Given the description of an element on the screen output the (x, y) to click on. 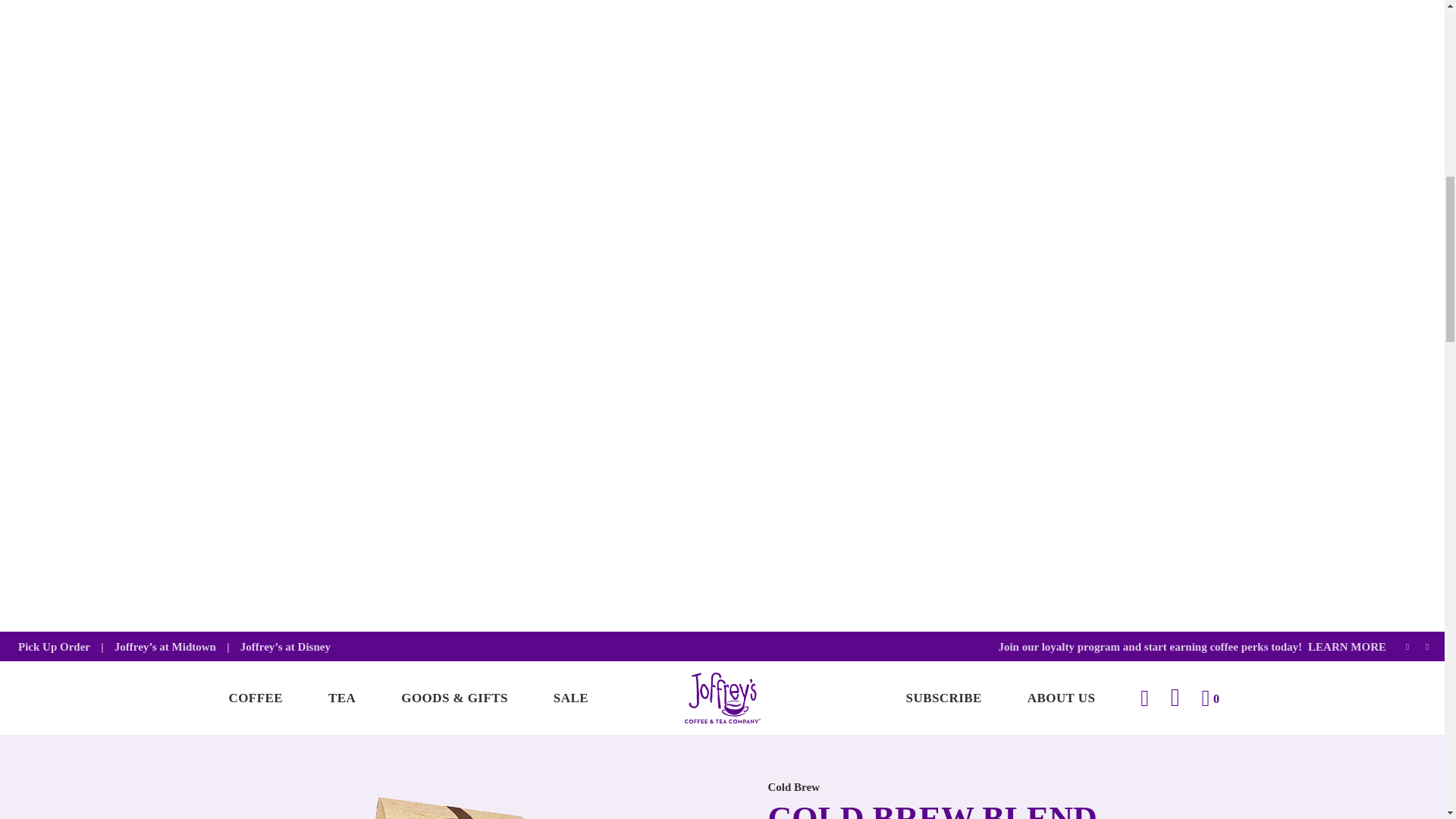
SUBSCRIBE (943, 697)
sale (571, 697)
LEARN MORE (1343, 646)
Tea (341, 697)
Coffee (255, 697)
SALE (571, 697)
Pick Up Order (53, 646)
COFFEE (255, 697)
TEA (341, 697)
